Given the description of an element on the screen output the (x, y) to click on. 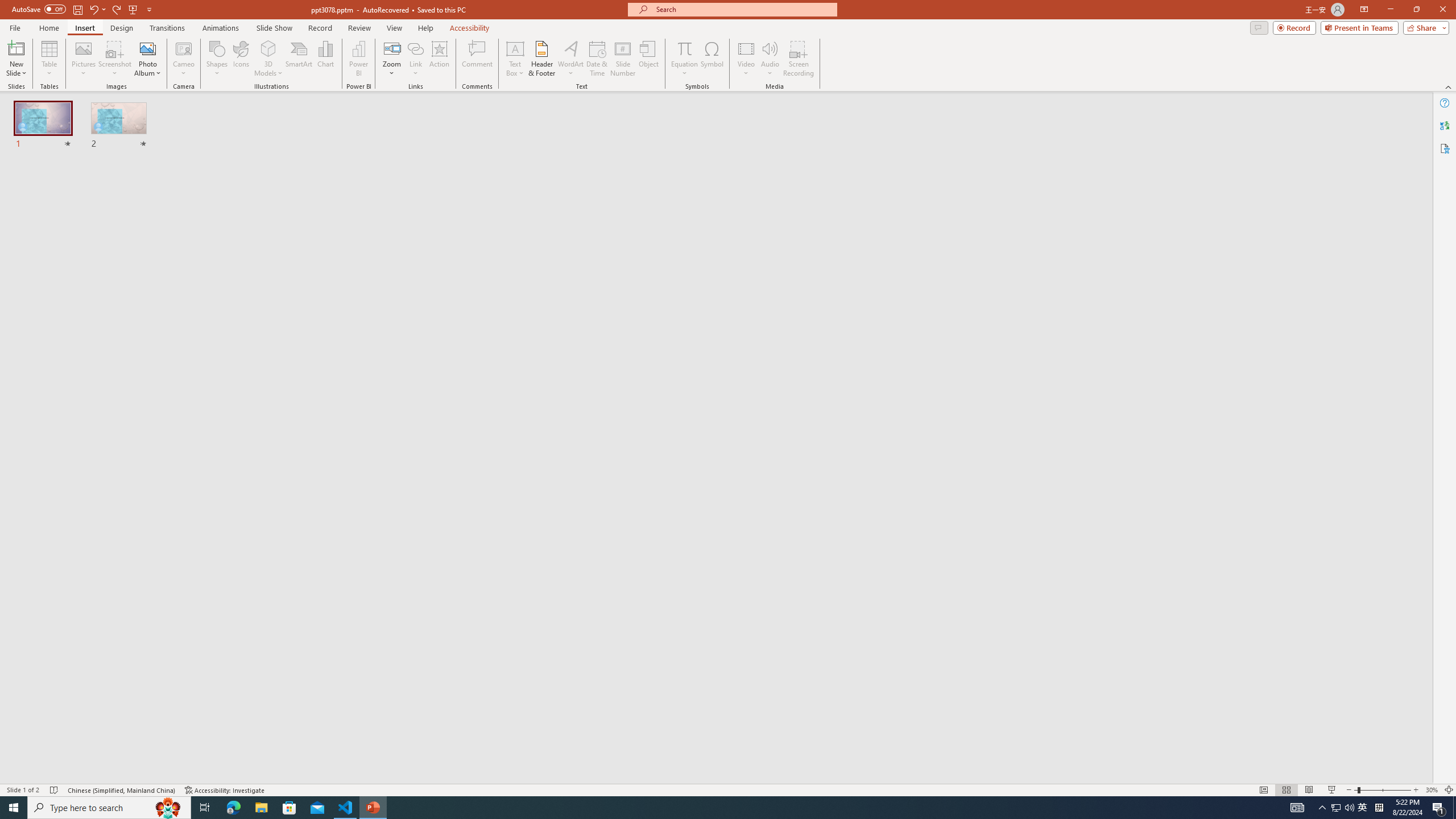
Collapse the Ribbon (1448, 86)
Microsoft search (742, 9)
3D Models (268, 48)
SmartArt... (298, 58)
Zoom to Fit  (1449, 790)
Header & Footer... (541, 58)
Draw Horizontal Text Box (515, 48)
Link (415, 58)
Equation (683, 48)
3D Models (268, 58)
